Given the description of an element on the screen output the (x, y) to click on. 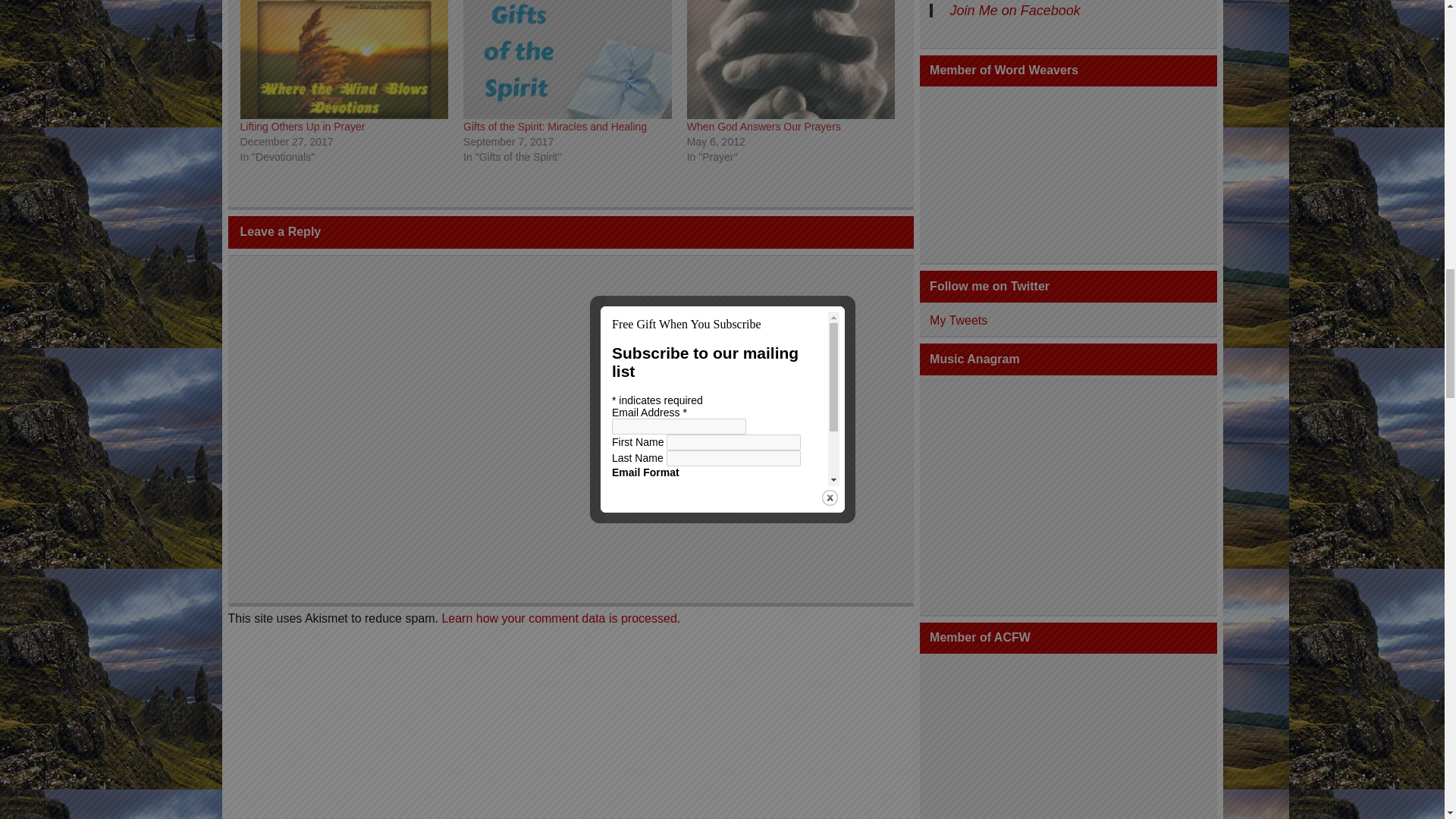
Gifts of the Spirit: Miracles and Healing (567, 59)
Lifting Others Up in Prayer (344, 59)
Lifting Others Up in Prayer (302, 126)
